Given the description of an element on the screen output the (x, y) to click on. 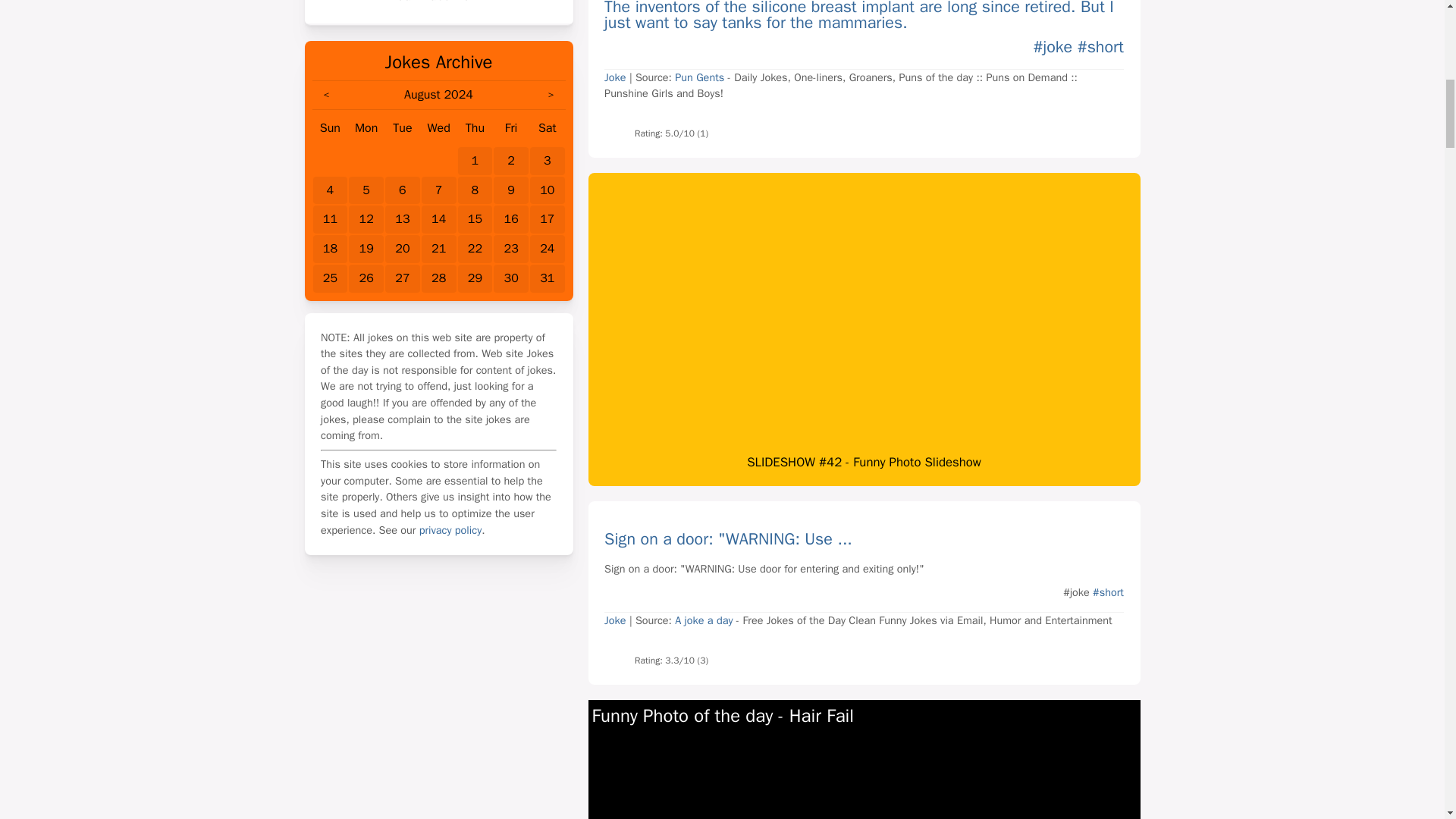
Joke (615, 77)
inventors of the silicone breast implant (772, 8)
Joke (615, 620)
A joke a day (703, 620)
Pun Gents (699, 77)
